Given the description of an element on the screen output the (x, y) to click on. 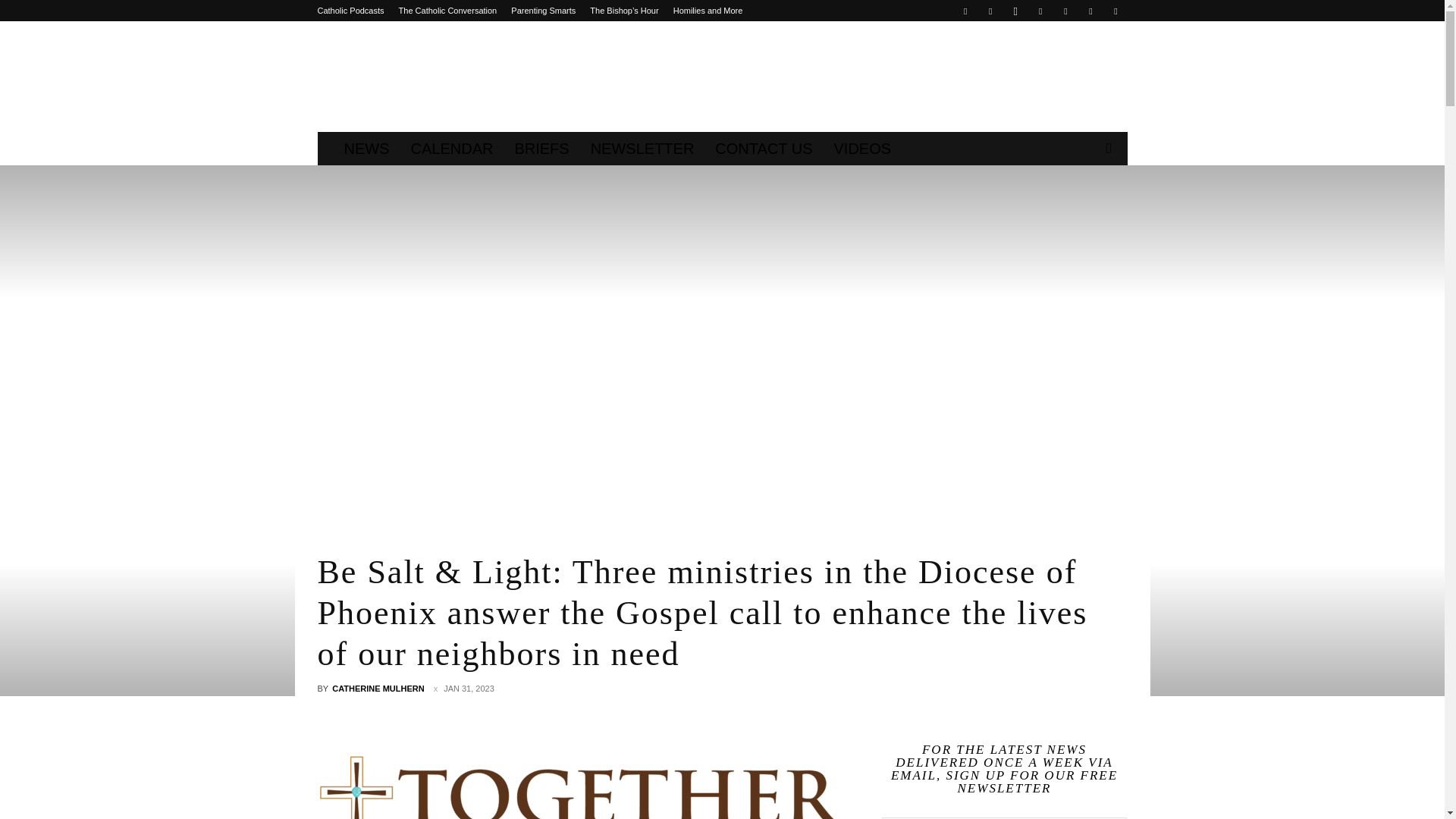
Twitter (1065, 10)
Parenting Smarts (543, 10)
Instagram (1015, 10)
The Catholic Conversation (447, 10)
Linkedin (1040, 10)
Flickr (989, 10)
Facebook (964, 10)
Vimeo (1090, 10)
Homilies and More (707, 10)
Catholic Podcasts (350, 10)
NEWS (366, 148)
